Given the description of an element on the screen output the (x, y) to click on. 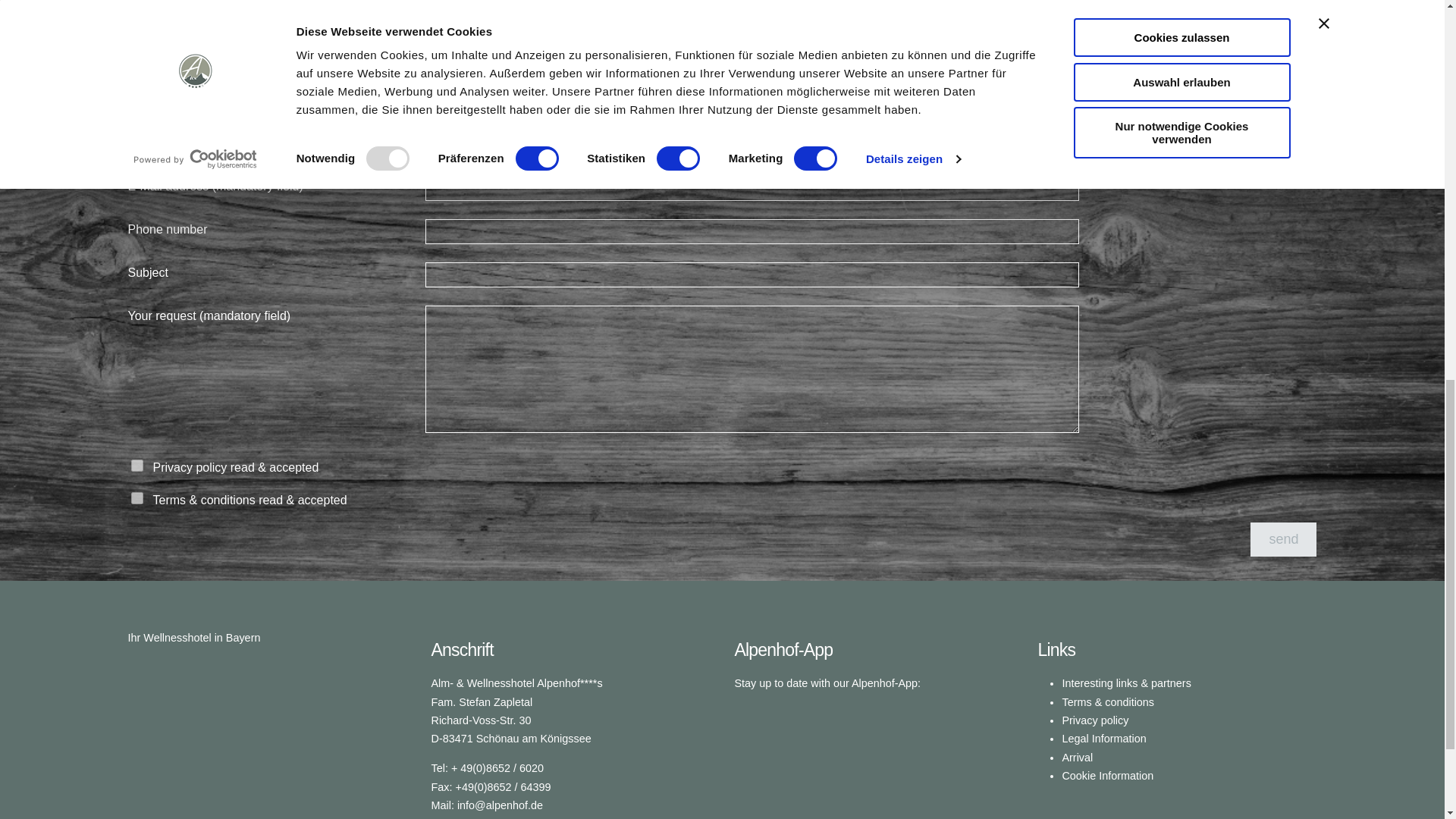
1 (136, 498)
send (1283, 539)
1 (136, 465)
